Given the description of an element on the screen output the (x, y) to click on. 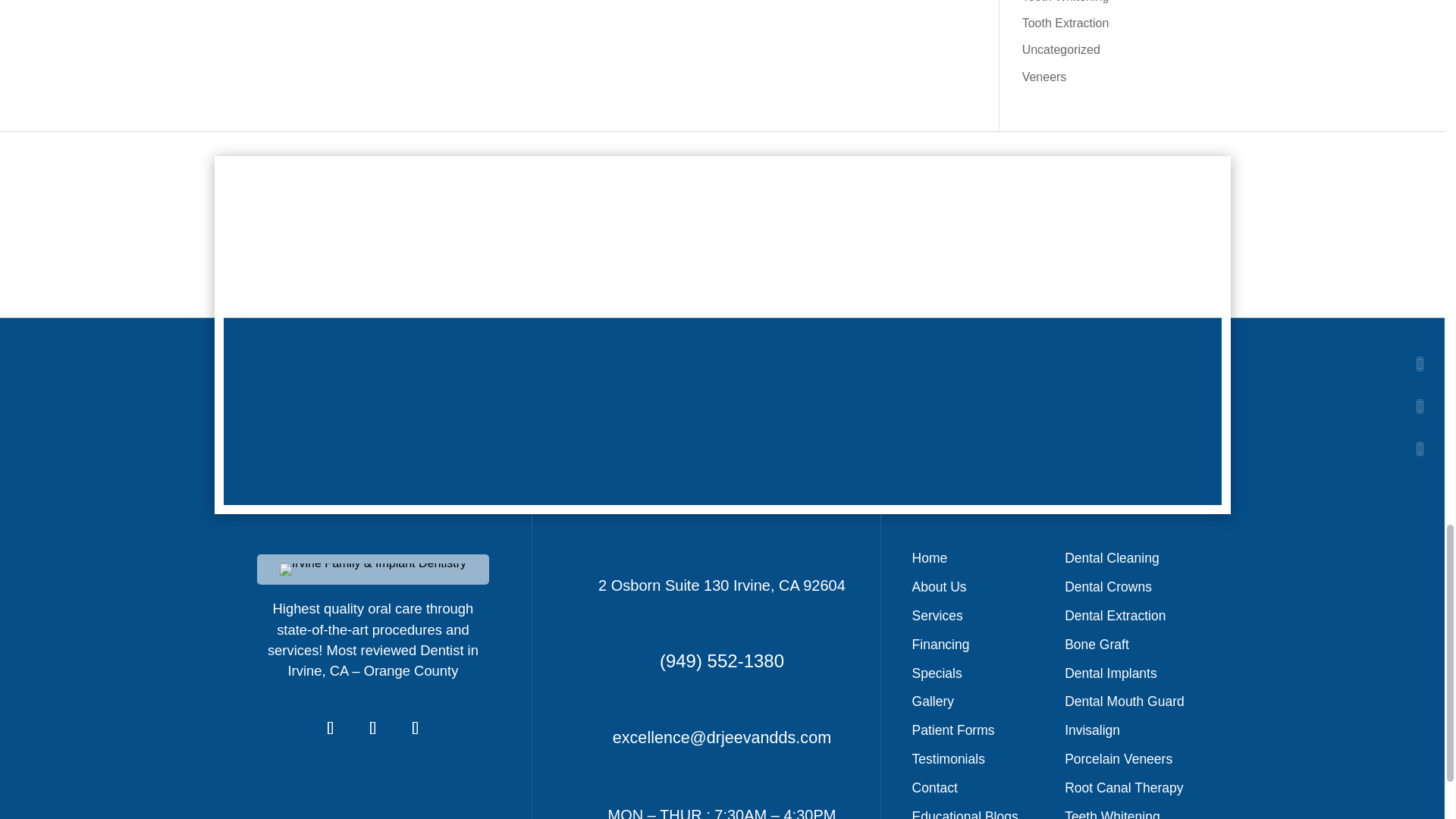
Follow on Facebook (331, 728)
Follow on Instagram (415, 728)
Follow on X (373, 728)
